Given the description of an element on the screen output the (x, y) to click on. 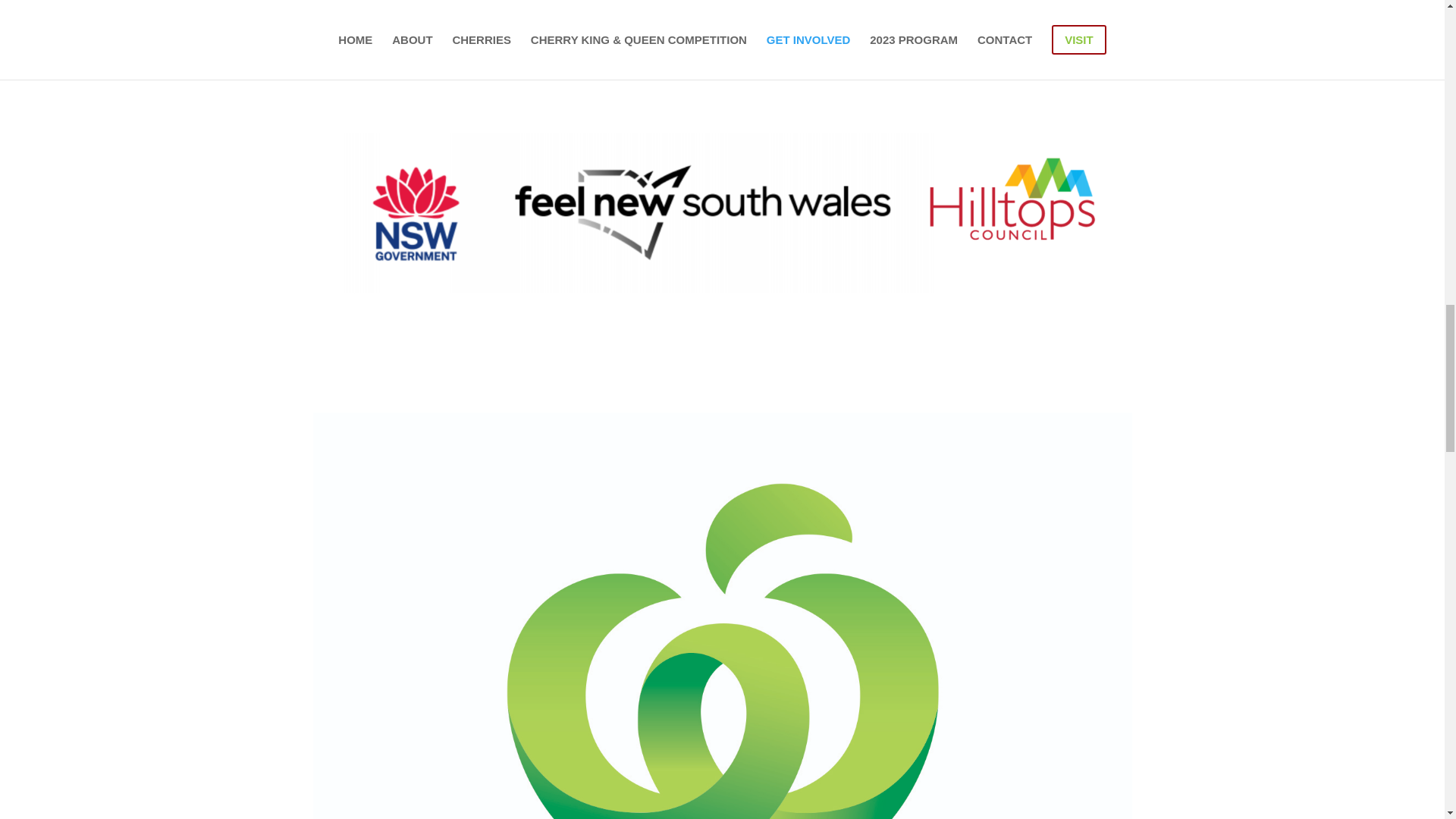
890we (722, 212)
